Given the description of an element on the screen output the (x, y) to click on. 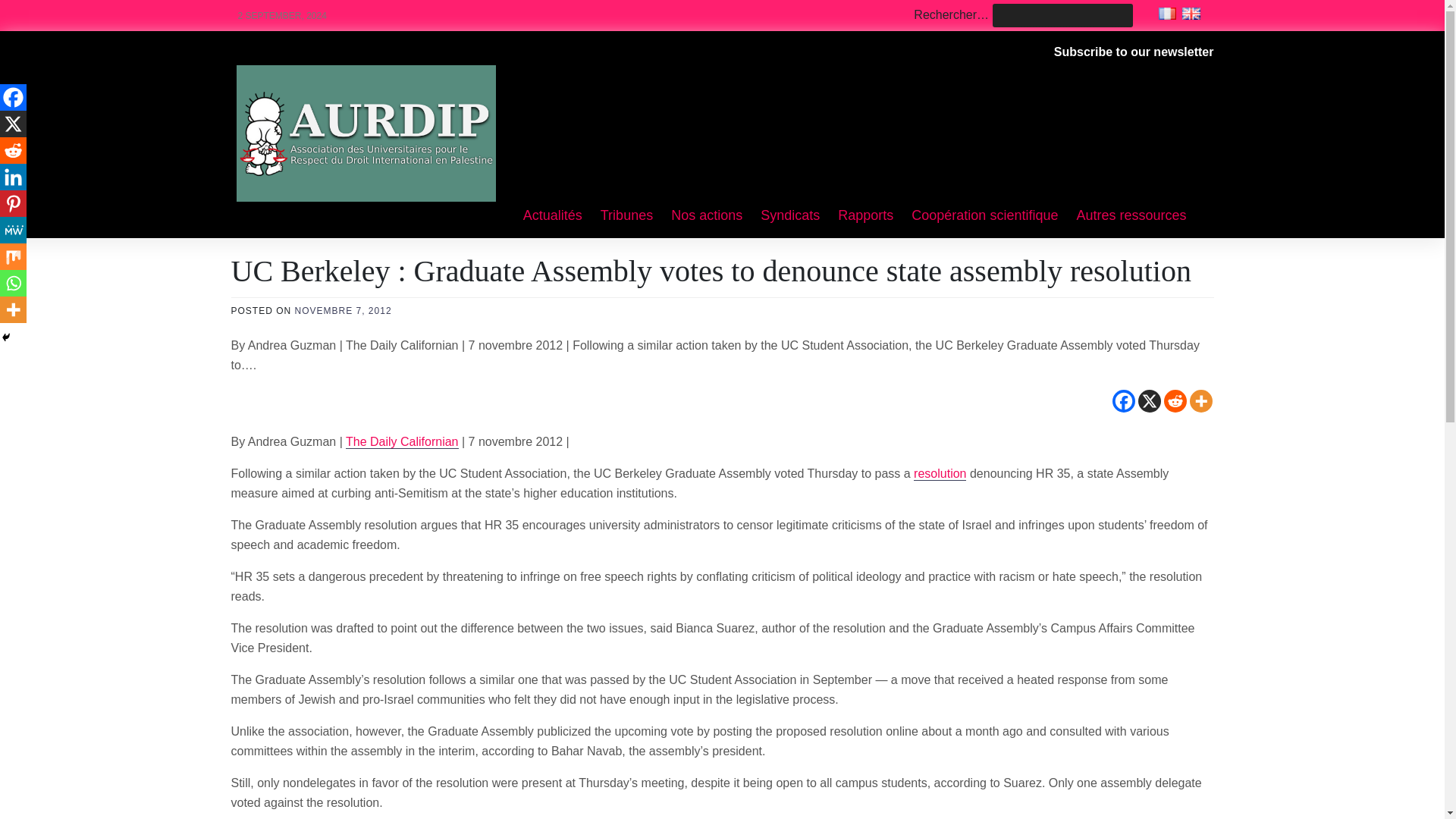
X (1148, 400)
Tribunes (626, 215)
Autres ressources (1131, 215)
Nos actions (706, 215)
Rechercher (44, 12)
Subscribe to our newsletter (1134, 51)
X (13, 123)
resolution (940, 473)
Facebook (13, 97)
MeWe (13, 230)
